Given the description of an element on the screen output the (x, y) to click on. 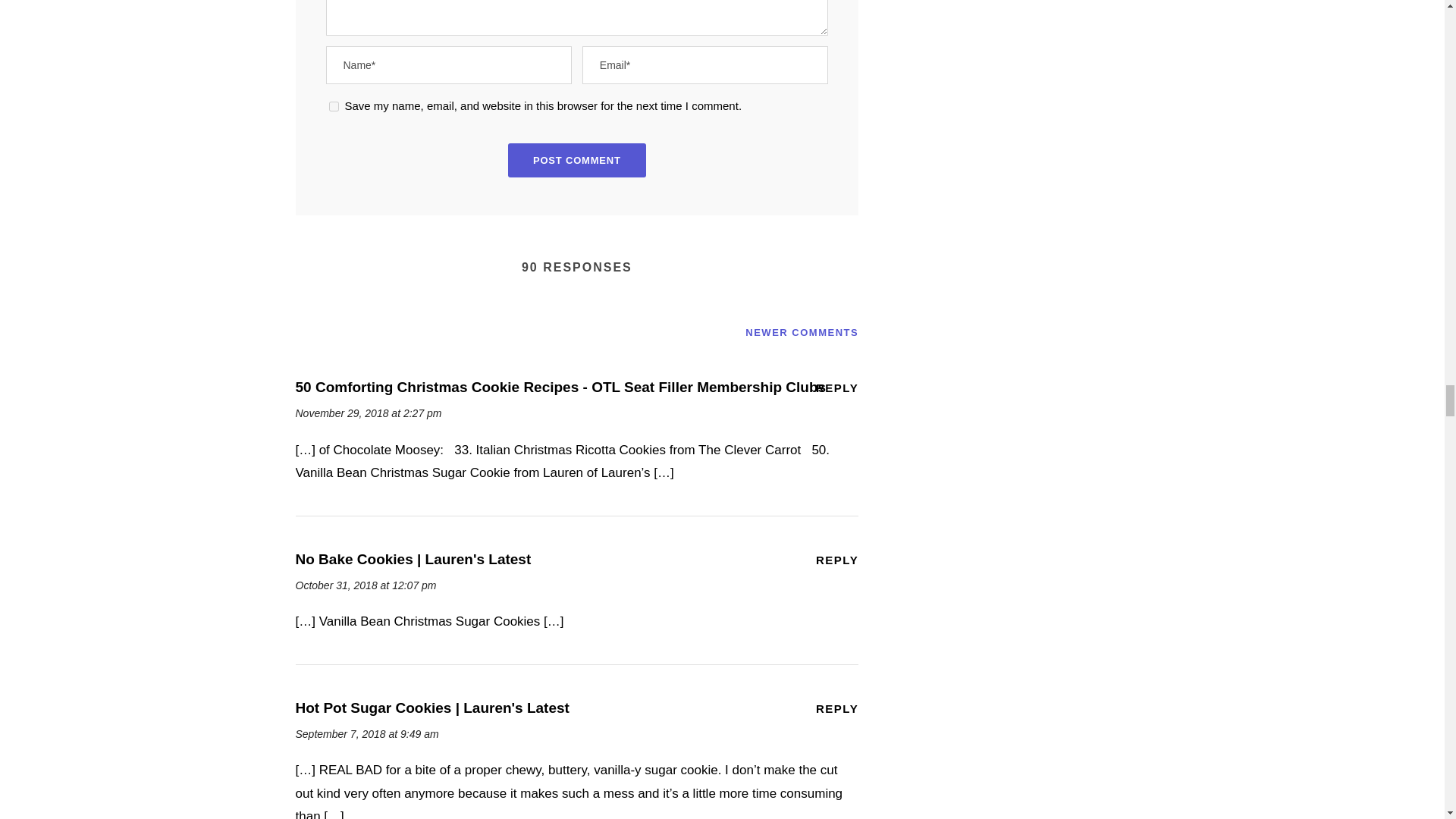
yes (334, 106)
Post Comment (577, 160)
